Given the description of an element on the screen output the (x, y) to click on. 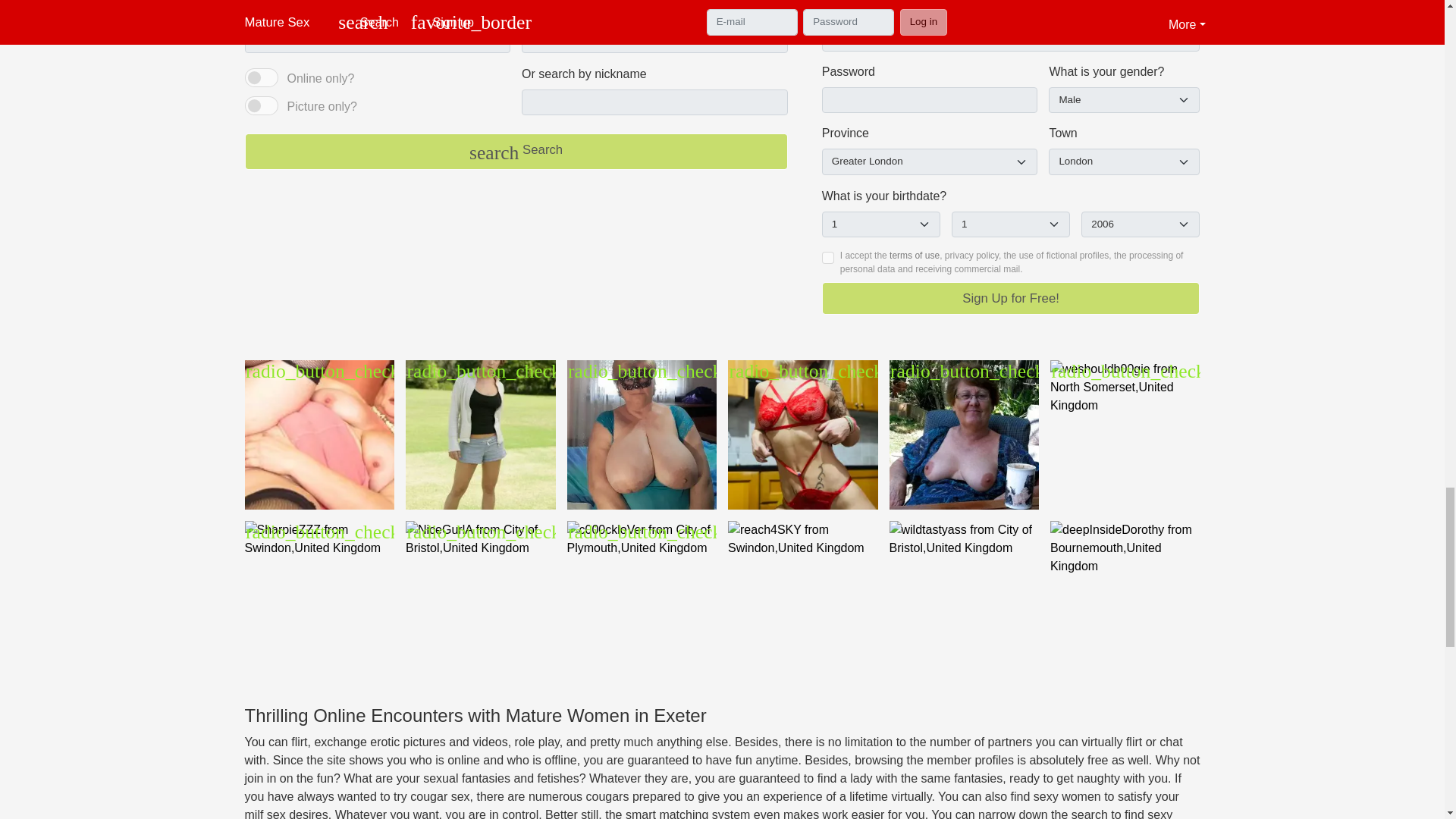
1 (828, 257)
1 (261, 106)
1 (261, 77)
